Given the description of an element on the screen output the (x, y) to click on. 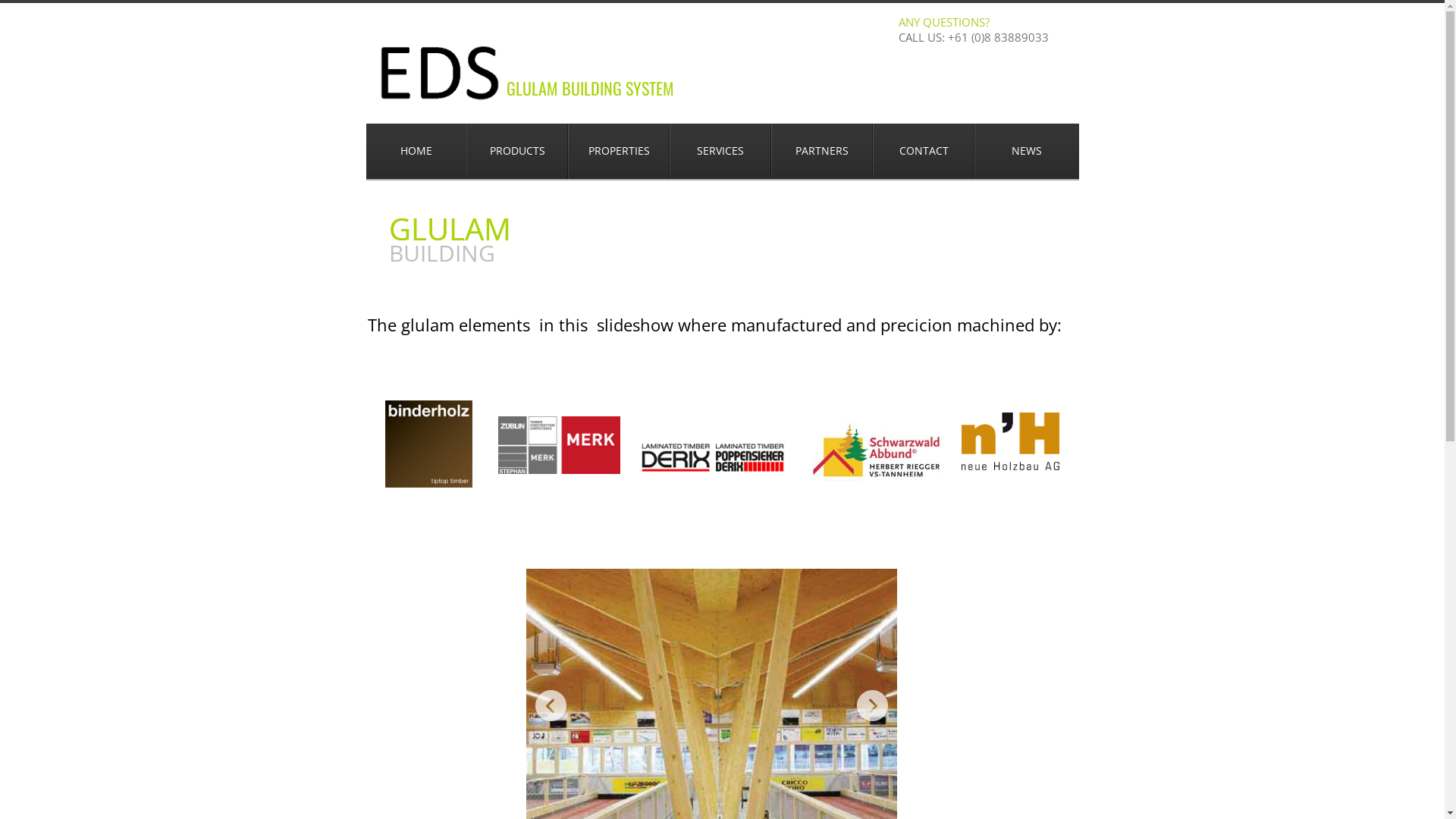
SERVICES Element type: text (720, 150)
CONTACT Element type: text (923, 150)
PRODUCTS Element type: text (517, 150)
HOME Element type: text (415, 150)
NEWS Element type: text (1026, 150)
PARTNERS Element type: text (821, 150)
PROPERTIES Element type: text (618, 150)
